Given the description of an element on the screen output the (x, y) to click on. 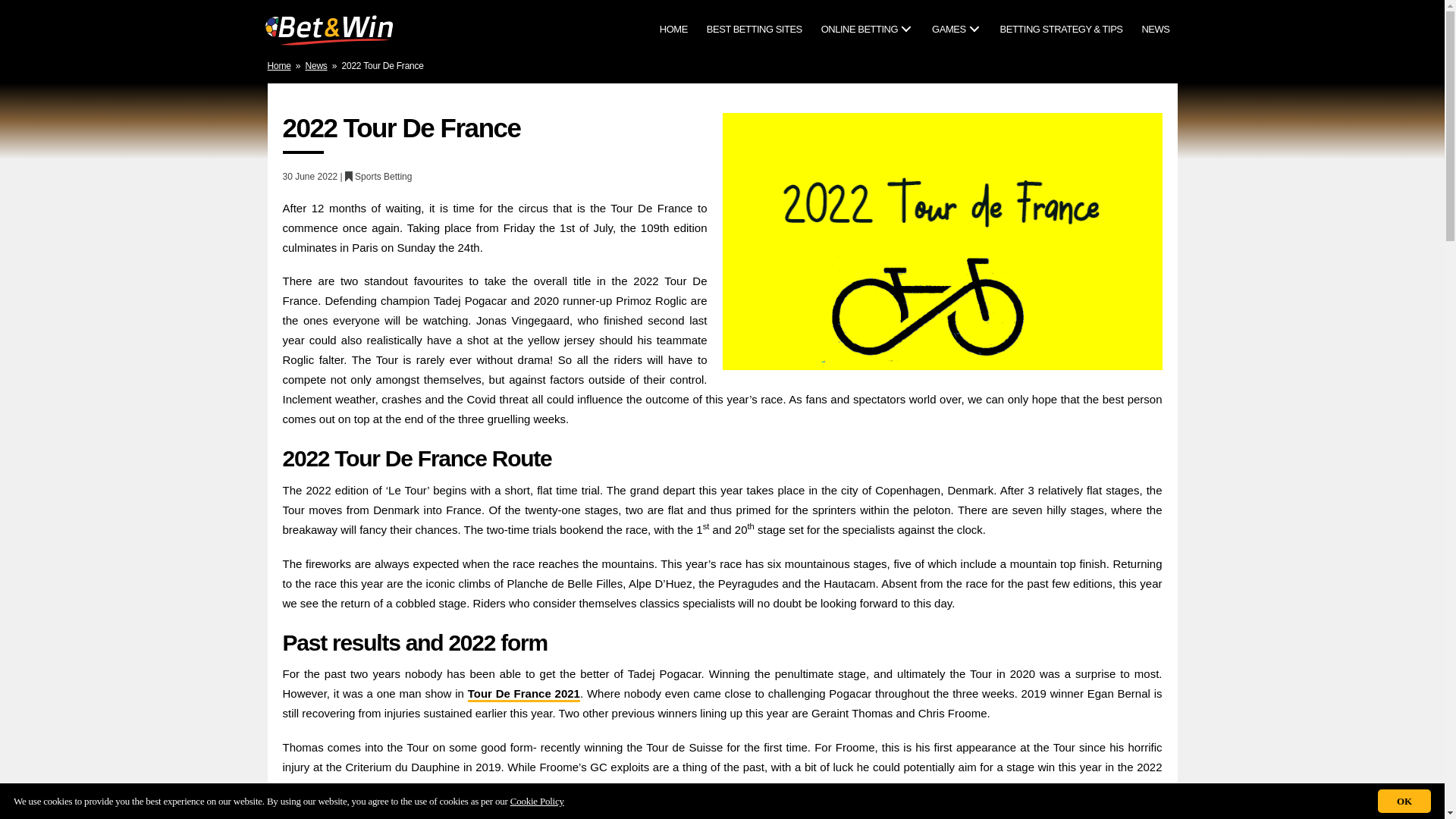
BEST BETTING SITES (754, 30)
News (316, 65)
Home (277, 65)
ONLINE BETTING (866, 30)
NEWS (1155, 30)
GAMES (955, 30)
HOME (673, 30)
